Given the description of an element on the screen output the (x, y) to click on. 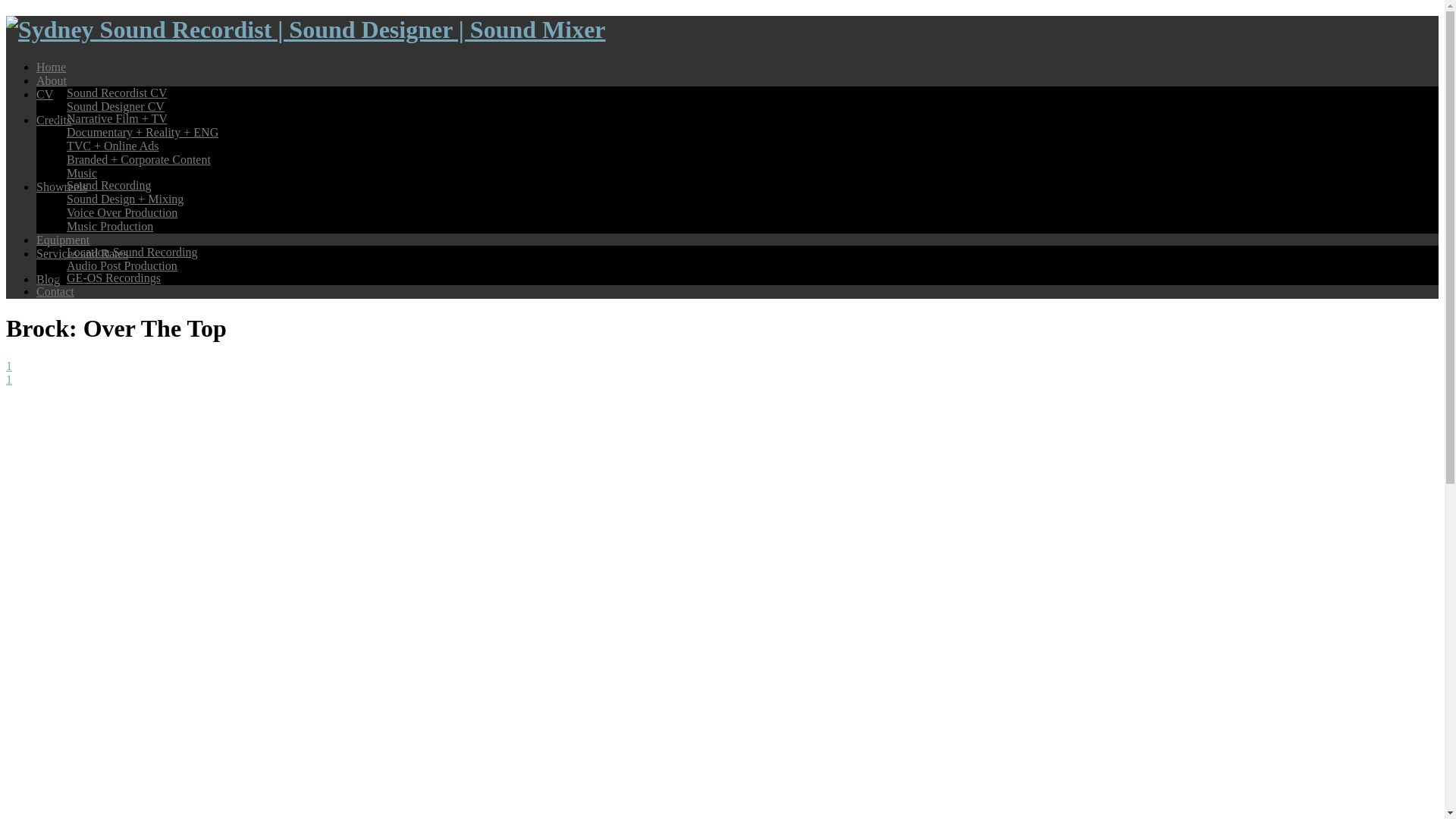
CV (44, 93)
Sound Recording (108, 185)
Audio Post Production (121, 265)
Services and Rates (82, 253)
About (51, 80)
GE-OS Recordings (113, 277)
Music (81, 173)
Equipment (62, 239)
Voice Over Production (121, 212)
Sound Designer CV (115, 106)
Location Sound Recording (131, 251)
Home (50, 66)
Music Production (109, 226)
Blog (47, 278)
Credits (53, 119)
